Given the description of an element on the screen output the (x, y) to click on. 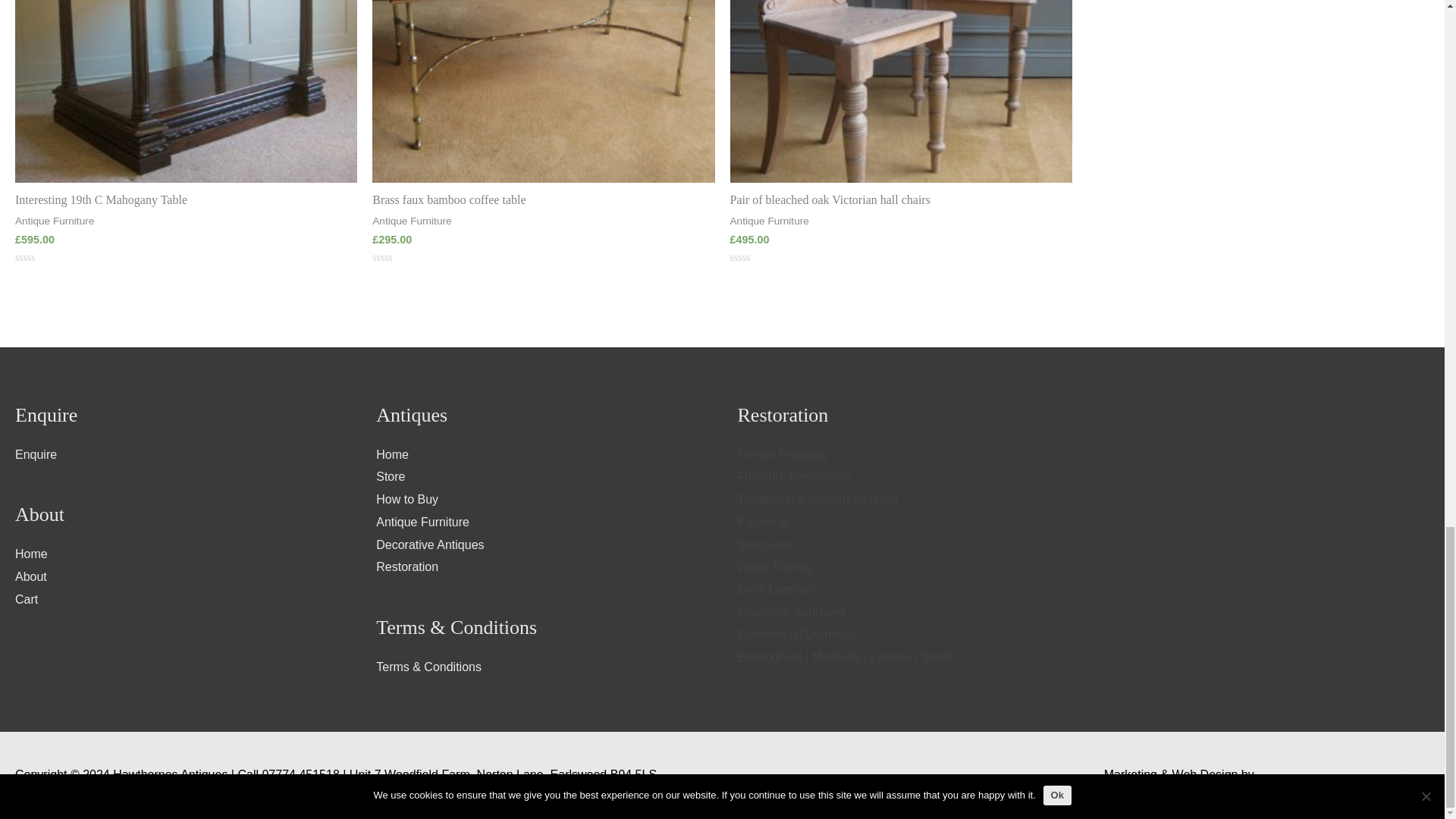
Interesting 19th C Mahogany Table (185, 200)
Brass faux bamboo coffee table (543, 200)
